Given the description of an element on the screen output the (x, y) to click on. 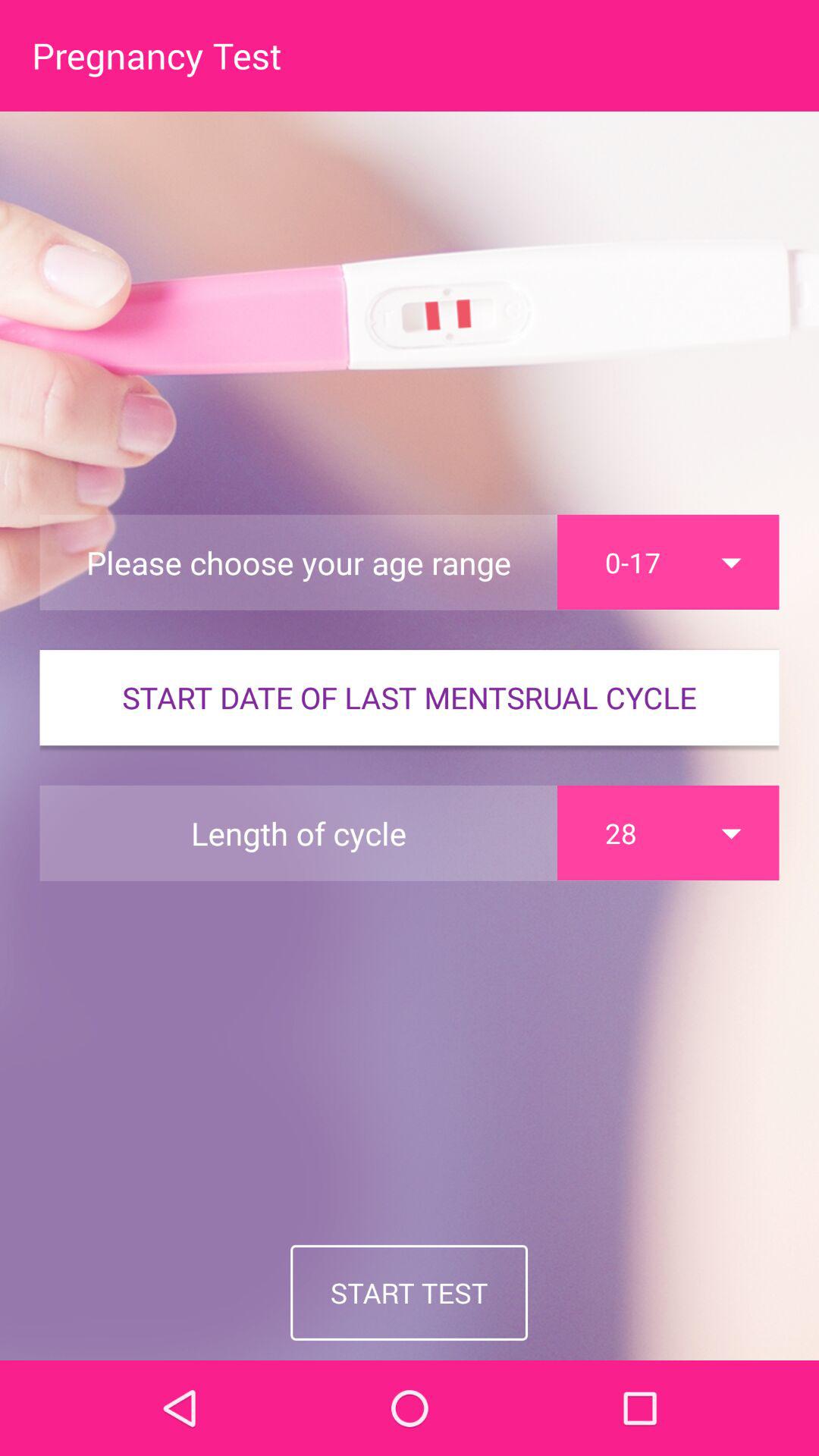
launch the item below length of cycle icon (408, 1292)
